Given the description of an element on the screen output the (x, y) to click on. 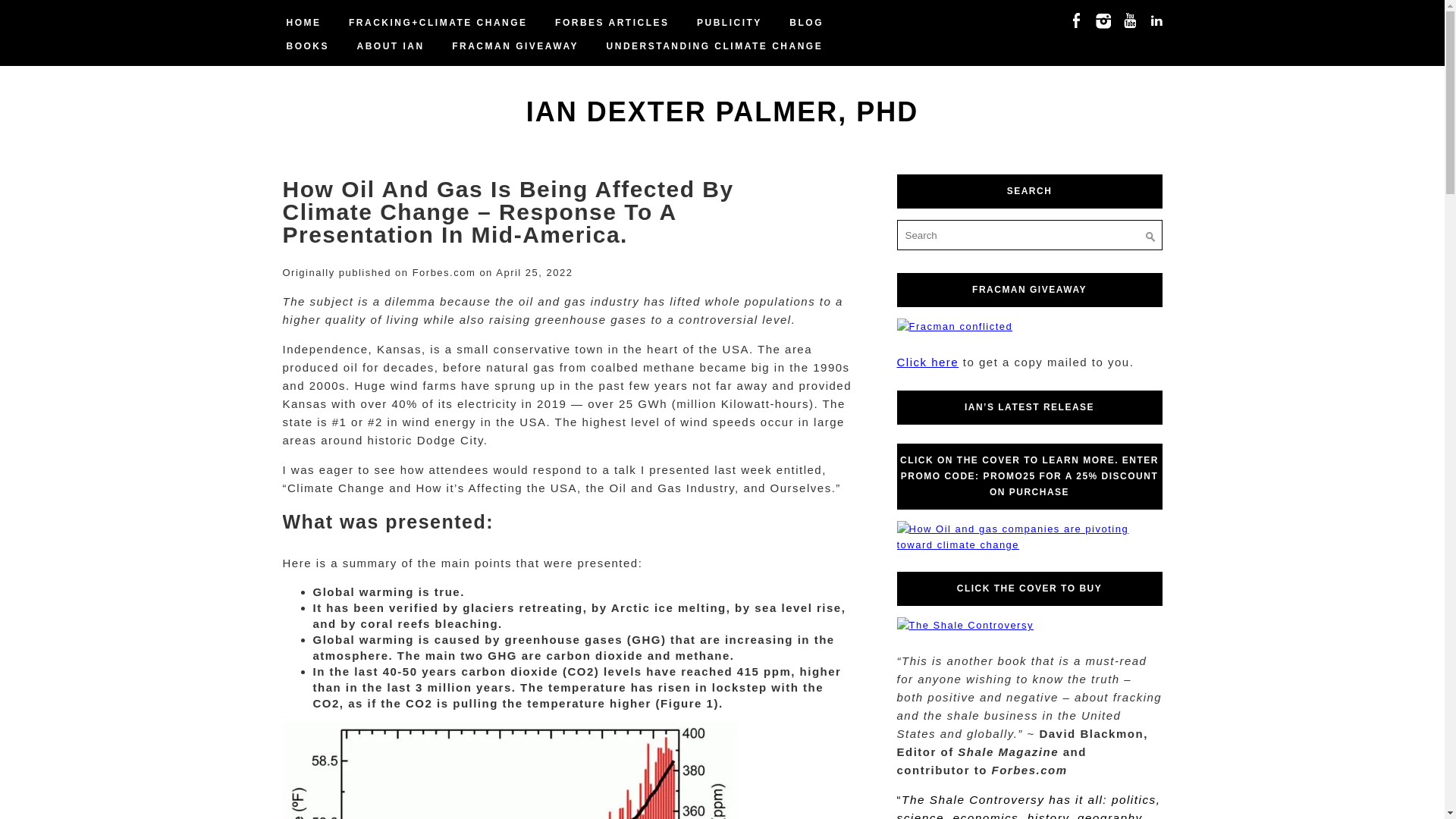
ABOUT IAN (390, 46)
FRACMAN GIVEAWAY (515, 46)
IAN DEXTER PALMER, PHD (721, 111)
FORBES ARTICLES (611, 23)
BLOG (805, 23)
HOME (303, 23)
PUBLICITY (729, 23)
BOOKS (307, 46)
UNDERSTANDING CLIMATE CHANGE (714, 46)
